Given the description of an element on the screen output the (x, y) to click on. 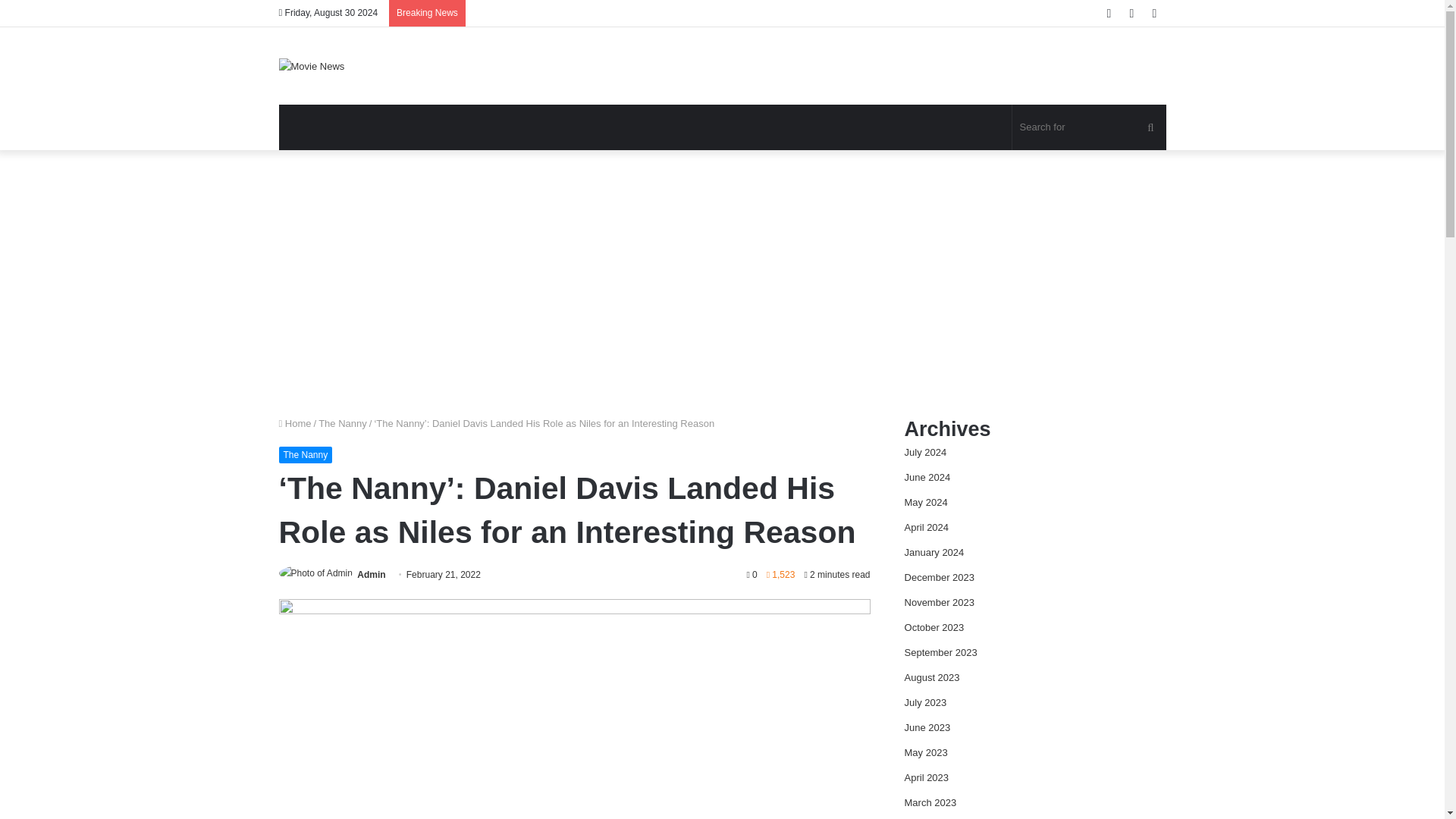
Home (295, 423)
Search for (1088, 126)
Movie News (312, 65)
Admin (370, 574)
The Nanny (342, 423)
Admin (370, 574)
The Nanny (306, 454)
